Given the description of an element on the screen output the (x, y) to click on. 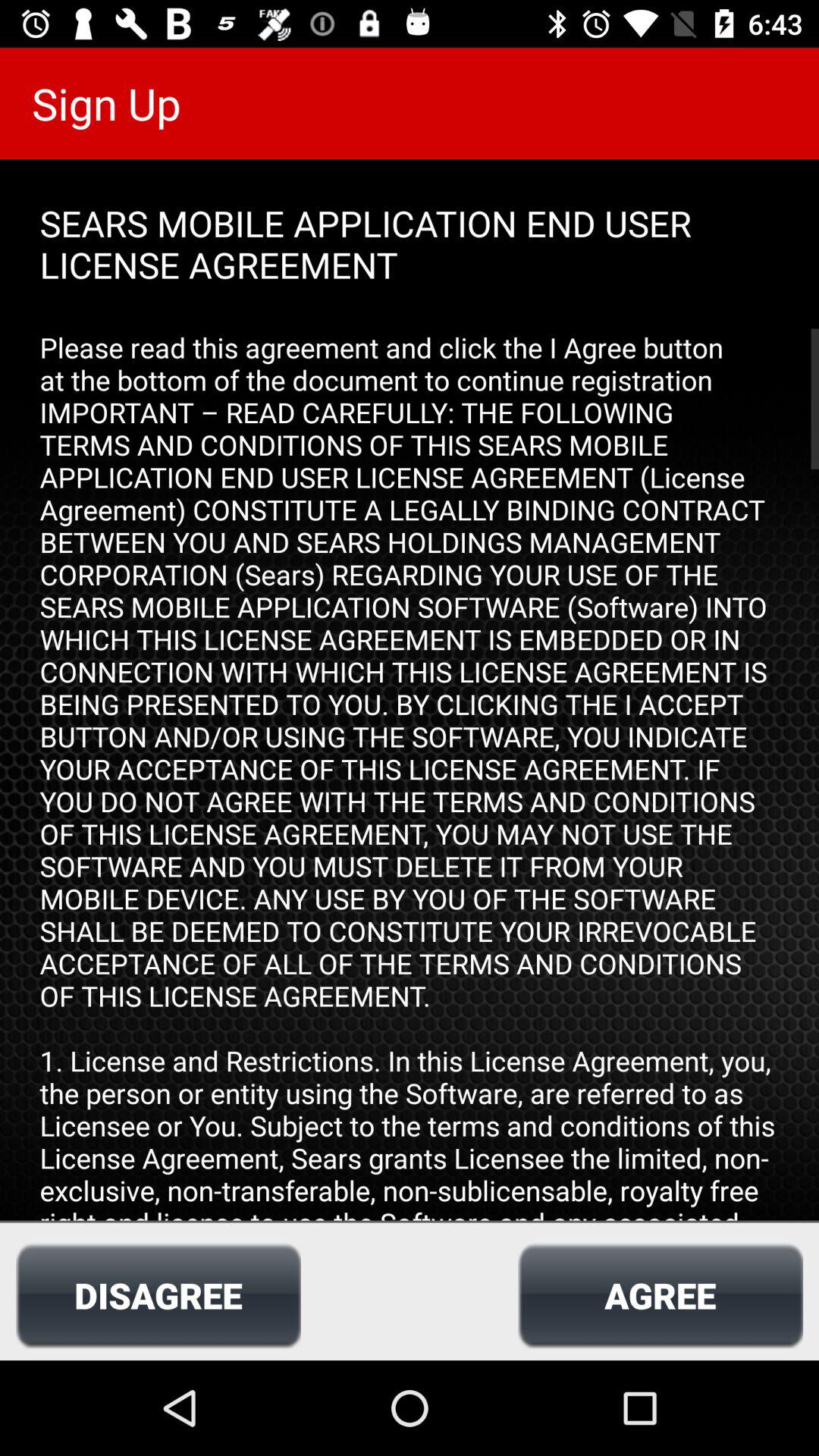
choose icon to the left of the agree icon (157, 1295)
